Given the description of an element on the screen output the (x, y) to click on. 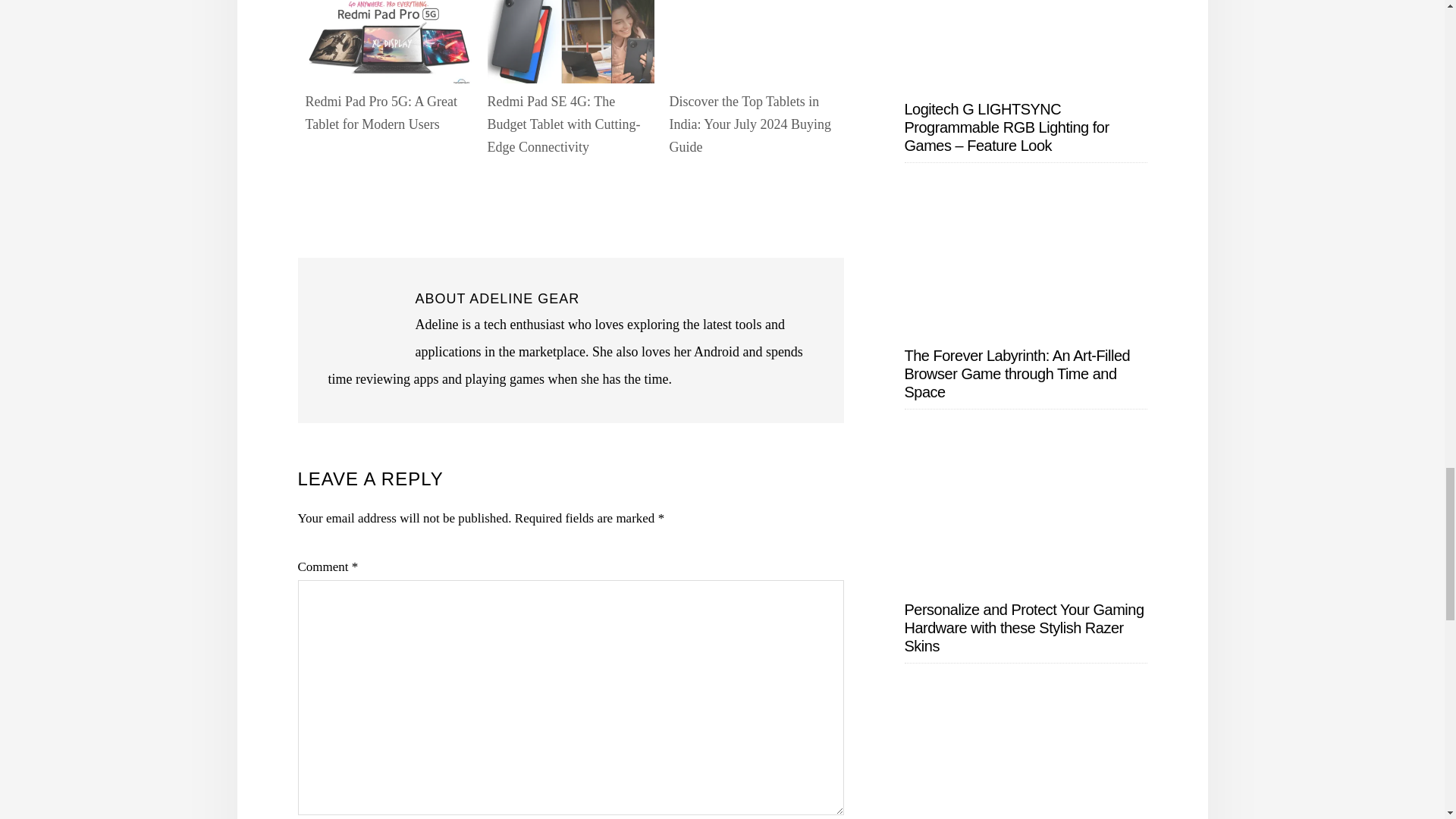
Redmi Pad Pro 5G: A Great Tablet for Modern Users (380, 112)
